Given the description of an element on the screen output the (x, y) to click on. 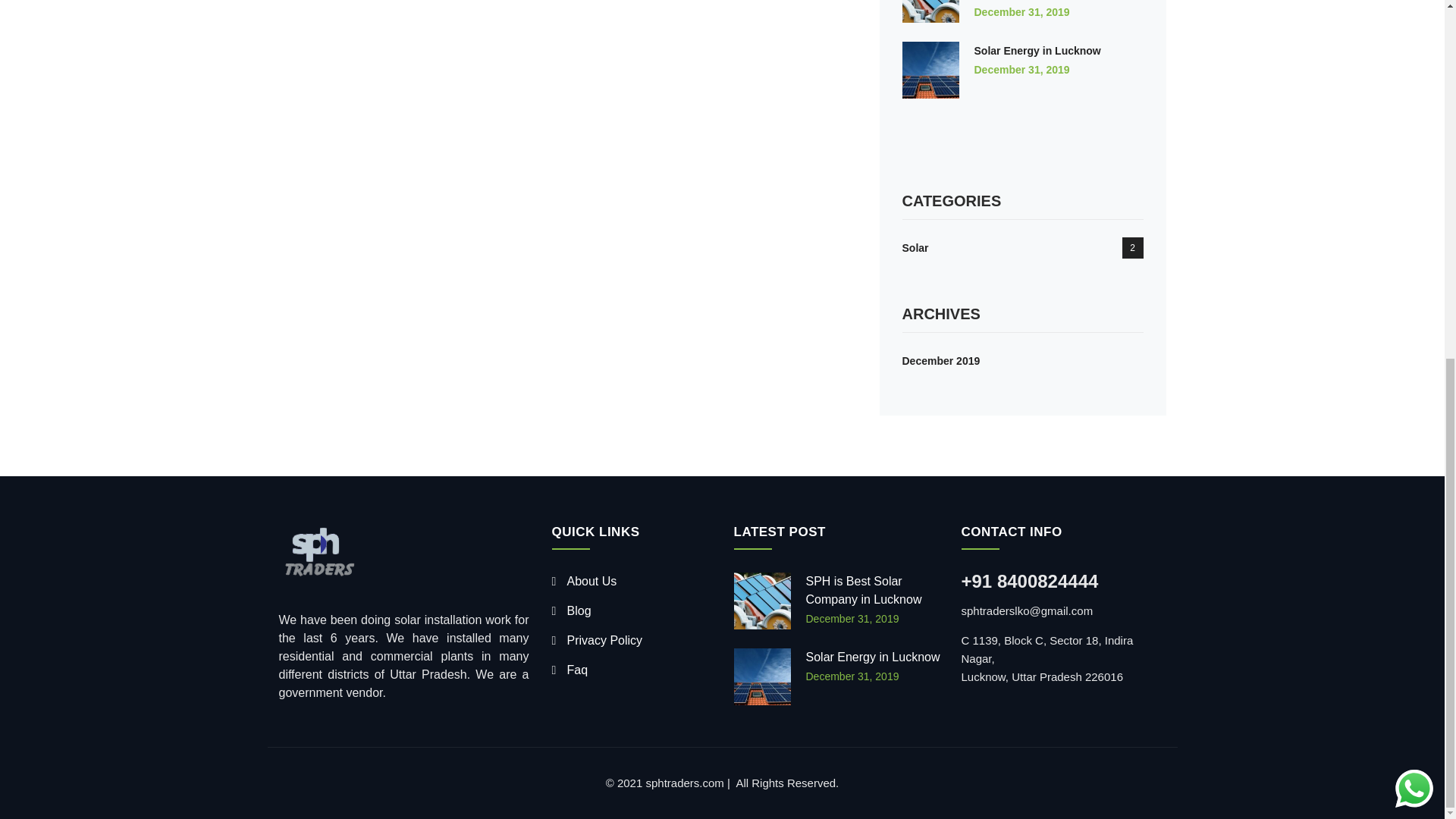
Blog (571, 610)
December 31, 2019 (1021, 11)
December 2019 (940, 360)
Solar Energy in Lucknow (872, 656)
Solar (915, 247)
December 31, 2019 (1021, 69)
December 31, 2019 (851, 676)
WhatsApp us (1413, 154)
Solar Energy in Lucknow (1037, 50)
About Us (584, 581)
Privacy Policy (597, 640)
Faq (569, 669)
December 31, 2019 (851, 618)
SPH is Best Solar Company in Lucknow (863, 590)
